Given the description of an element on the screen output the (x, y) to click on. 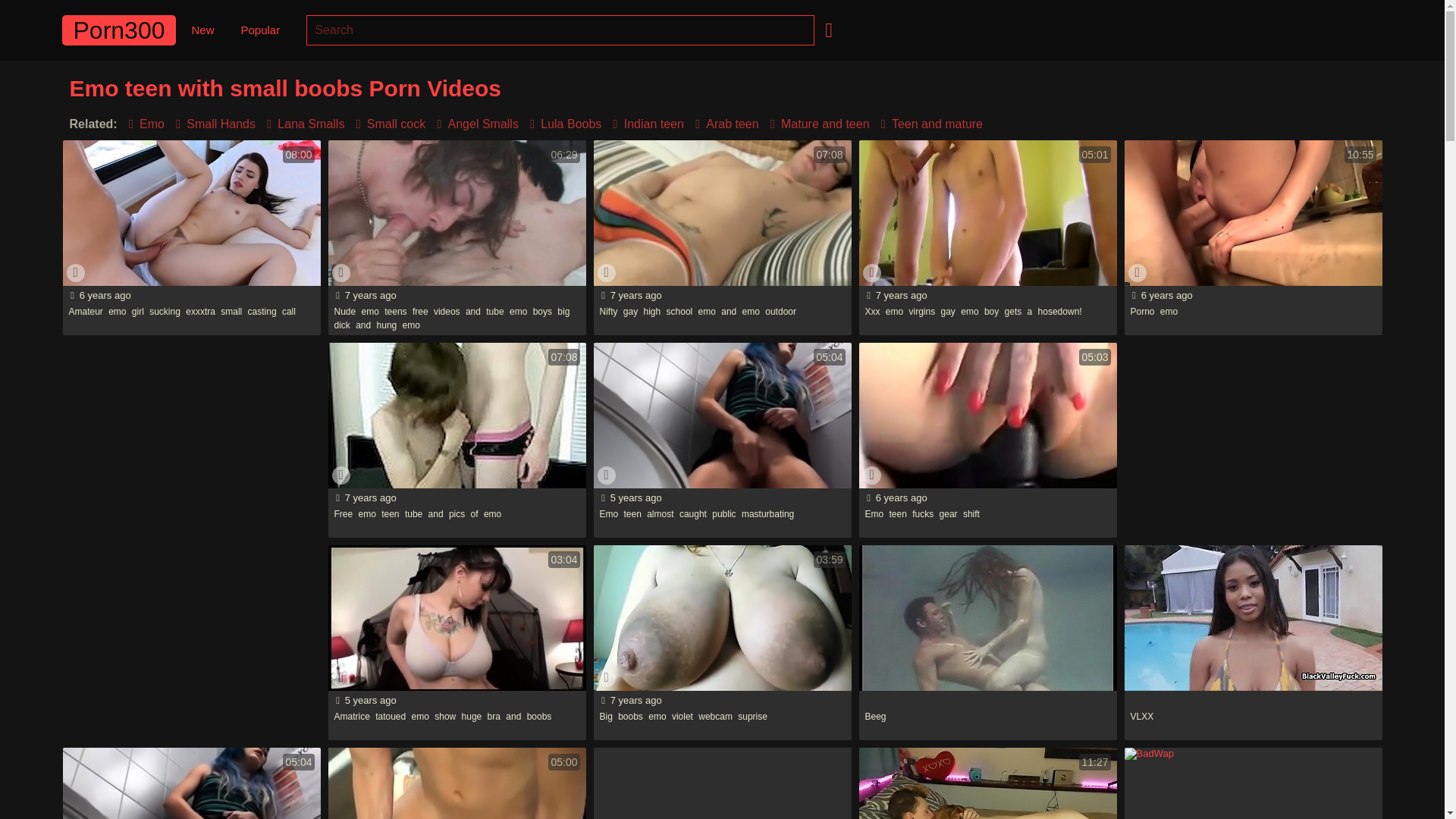
Mature and teen (816, 124)
Popular (259, 30)
Angel Smalls (474, 124)
Small Hands (213, 124)
Small cock (387, 124)
Emo (143, 124)
New (202, 30)
Teen and mature (928, 124)
Indian teen (645, 124)
Porn300 (119, 30)
